Given the description of an element on the screen output the (x, y) to click on. 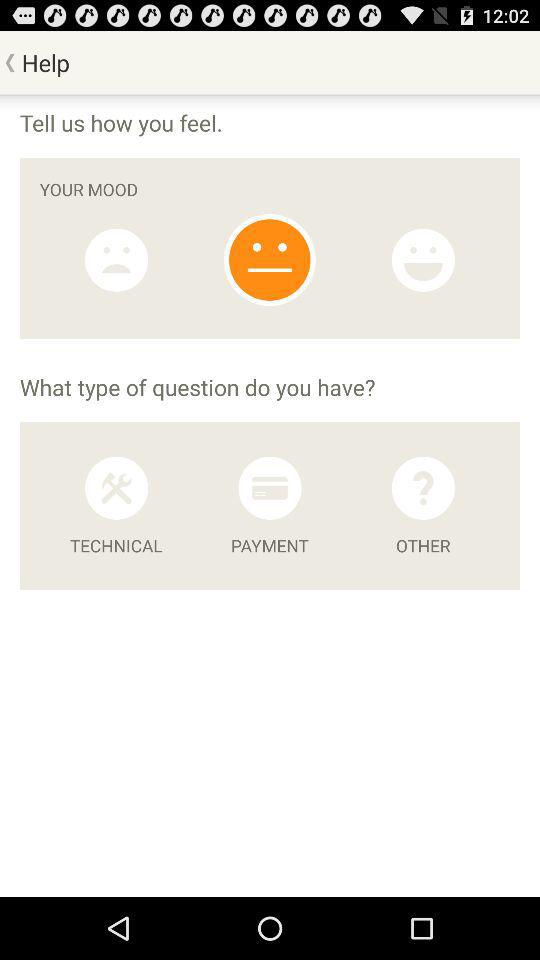
select neutral satisfaction (269, 260)
